Given the description of an element on the screen output the (x, y) to click on. 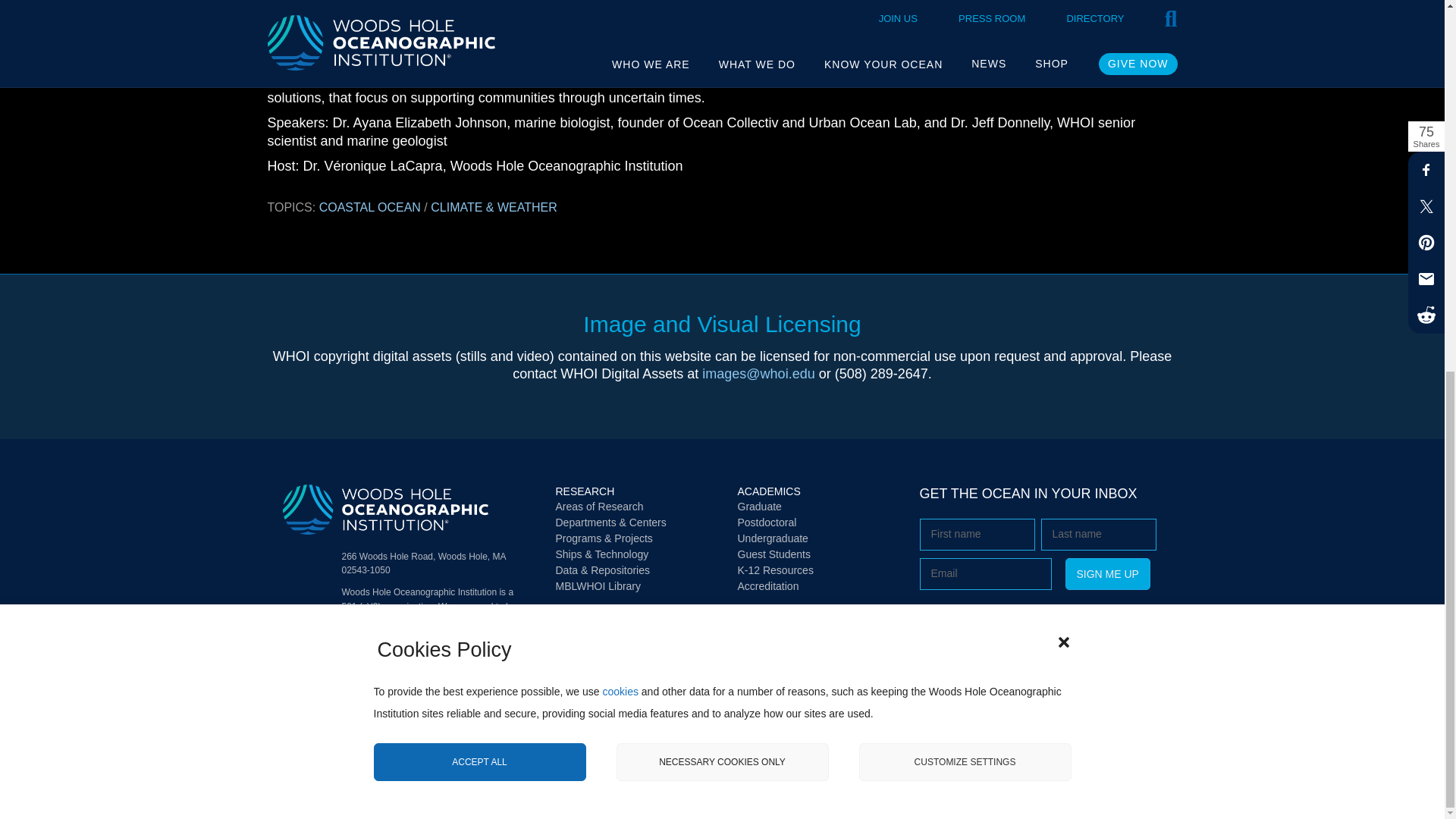
CUSTOMIZE SETTINGS (964, 94)
NECESSARY COOKIES ONLY (721, 97)
Sign me up (1107, 573)
cookies (619, 67)
ACCEPT ALL (478, 98)
